Given the description of an element on the screen output the (x, y) to click on. 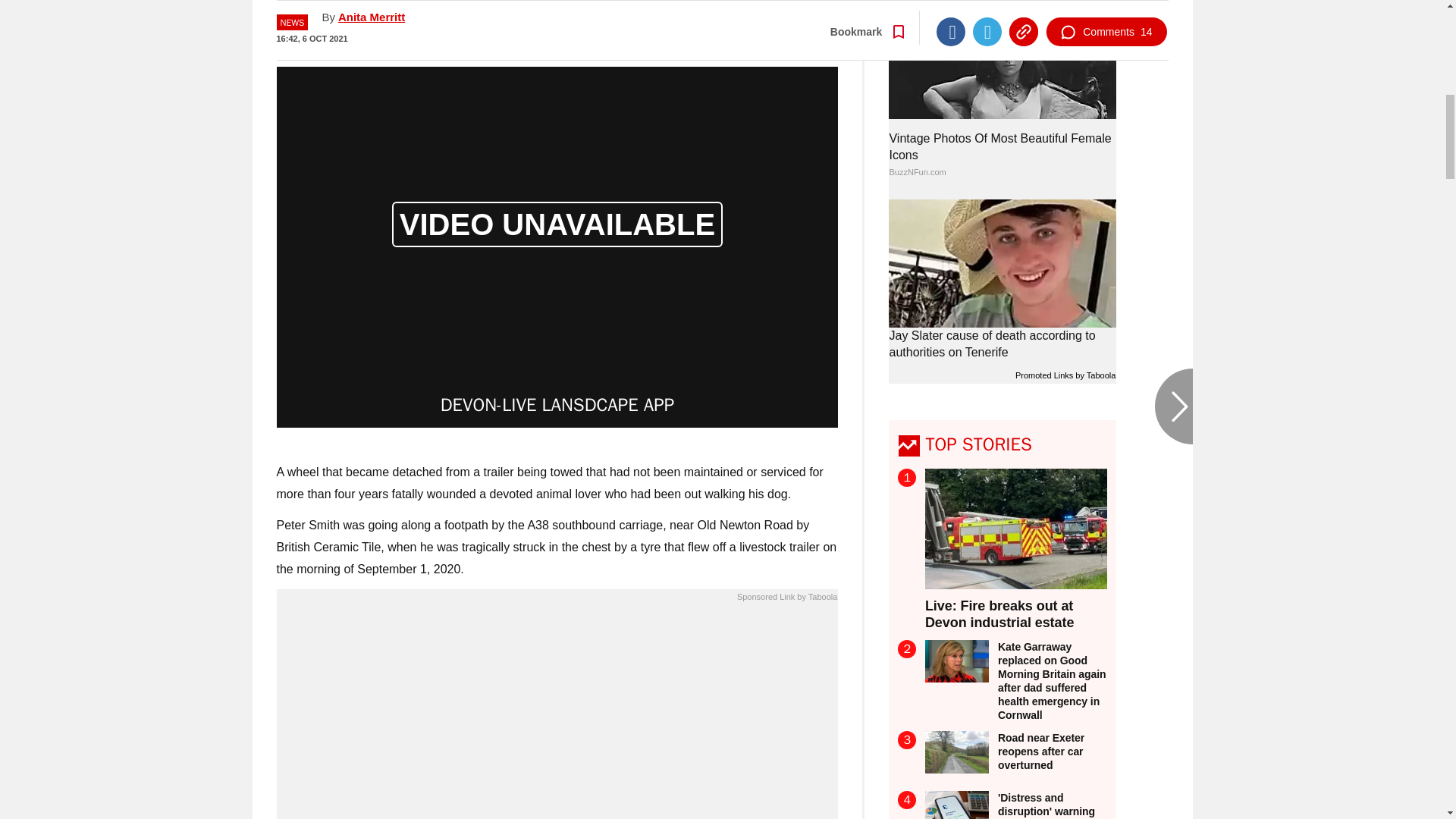
Go (730, 17)
